Given the description of an element on the screen output the (x, y) to click on. 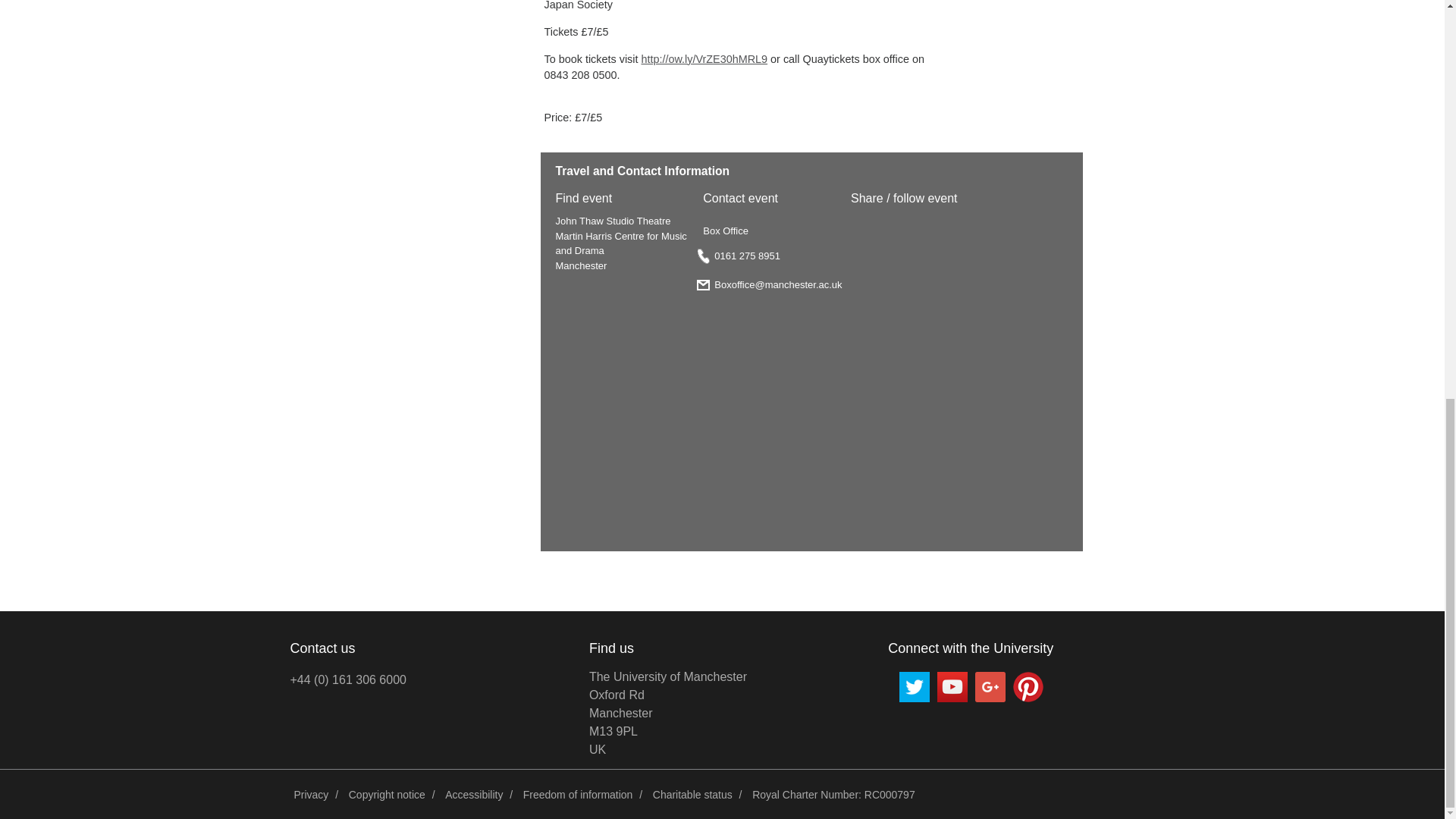
Privacy (310, 794)
Accessibility (667, 712)
Copyright notice (473, 794)
